Given the description of an element on the screen output the (x, y) to click on. 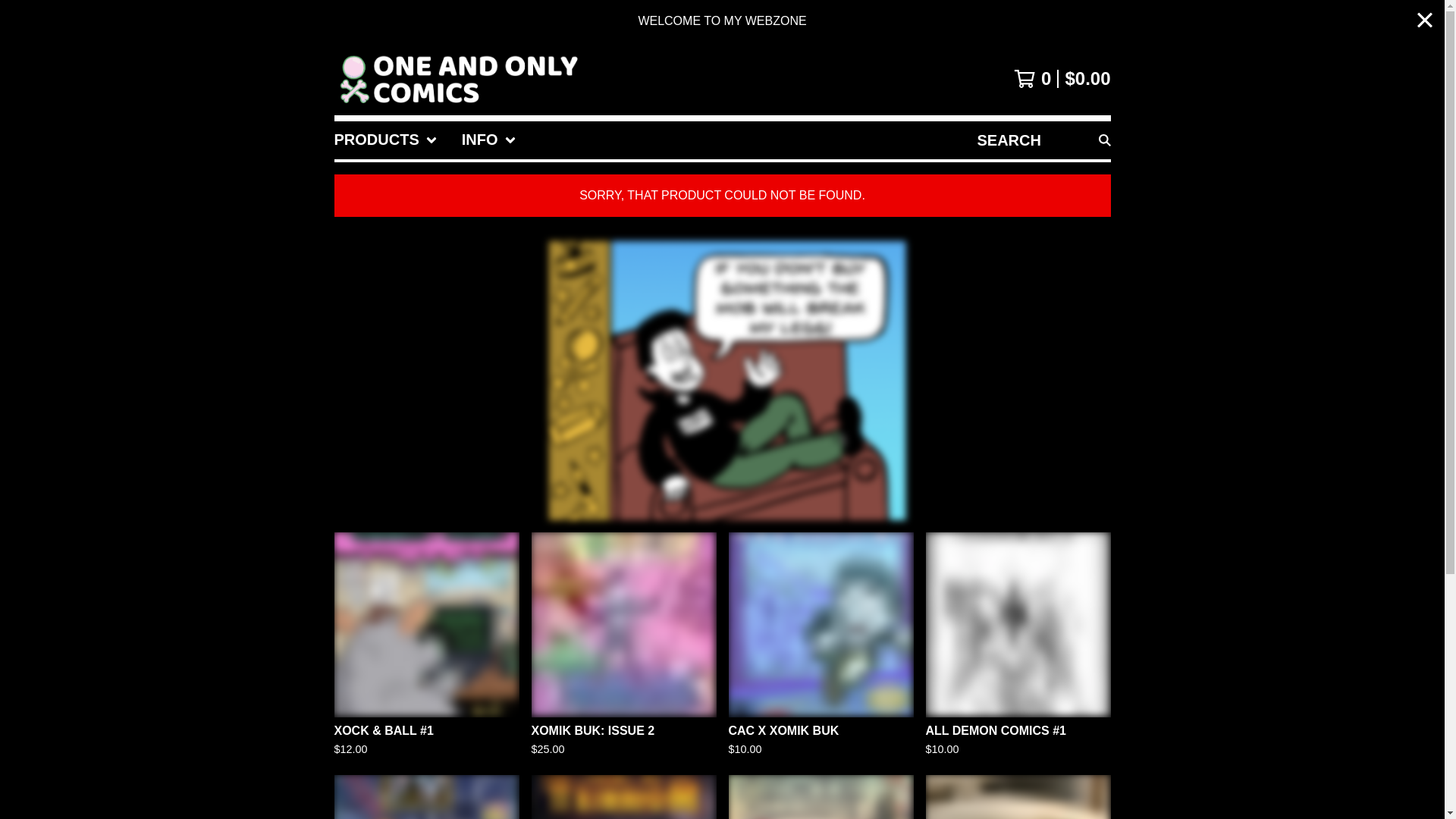
View cart (1061, 78)
Home (456, 78)
INFO (488, 139)
PRODUCTS (384, 139)
